Given the description of an element on the screen output the (x, y) to click on. 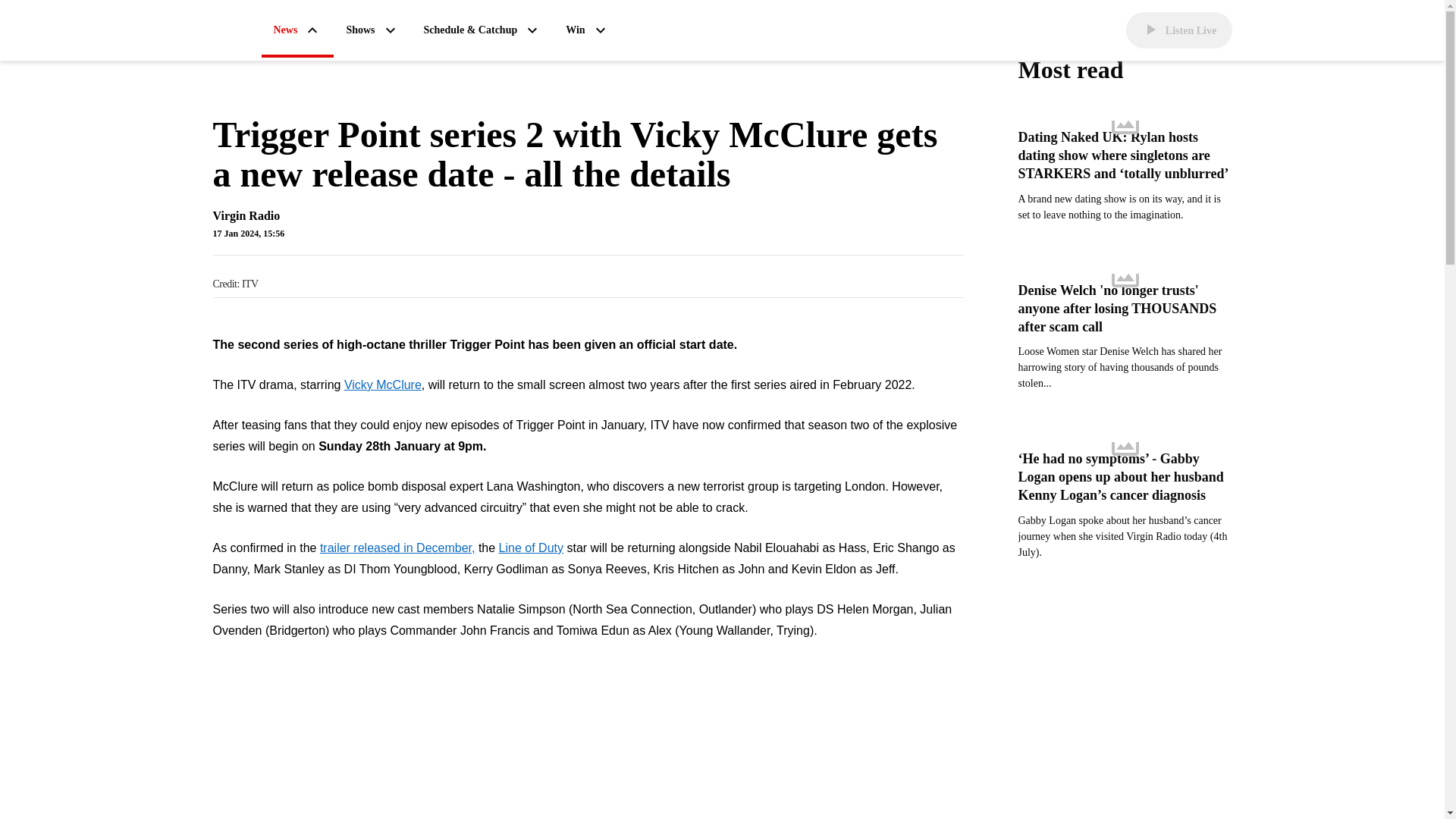
Listen Live (1178, 30)
News (296, 31)
trailer released in December, (398, 547)
Shows (371, 29)
Win (587, 29)
Line of Duty (531, 547)
Listen Live (1178, 30)
Shows (371, 29)
Vicky McClure (382, 384)
News (296, 31)
Win (587, 29)
